Given the description of an element on the screen output the (x, y) to click on. 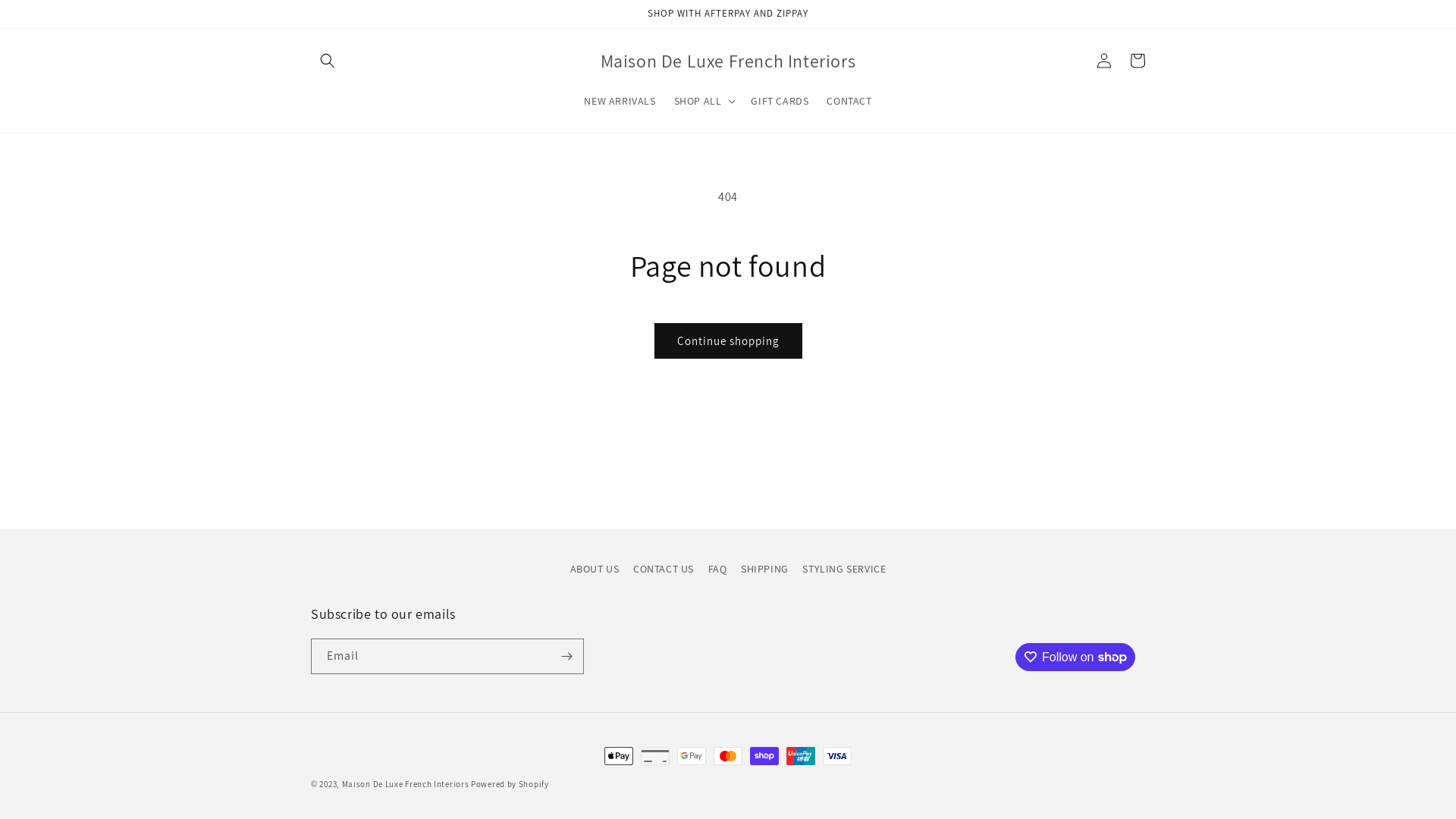
Maison De Luxe French Interiors Element type: text (727, 60)
CONTACT US Element type: text (663, 568)
Log in Element type: text (1103, 60)
NEW ARRIVALS Element type: text (619, 100)
Cart Element type: text (1137, 60)
FAQ Element type: text (717, 568)
Powered by Shopify Element type: text (509, 783)
ABOUT US Element type: text (594, 570)
CONTACT Element type: text (848, 100)
Continue shopping Element type: text (727, 340)
Maison De Luxe French Interiors Element type: text (405, 783)
SHIPPING Element type: text (764, 568)
GIFT CARDS Element type: text (779, 100)
STYLING SERVICE Element type: text (843, 568)
